Given the description of an element on the screen output the (x, y) to click on. 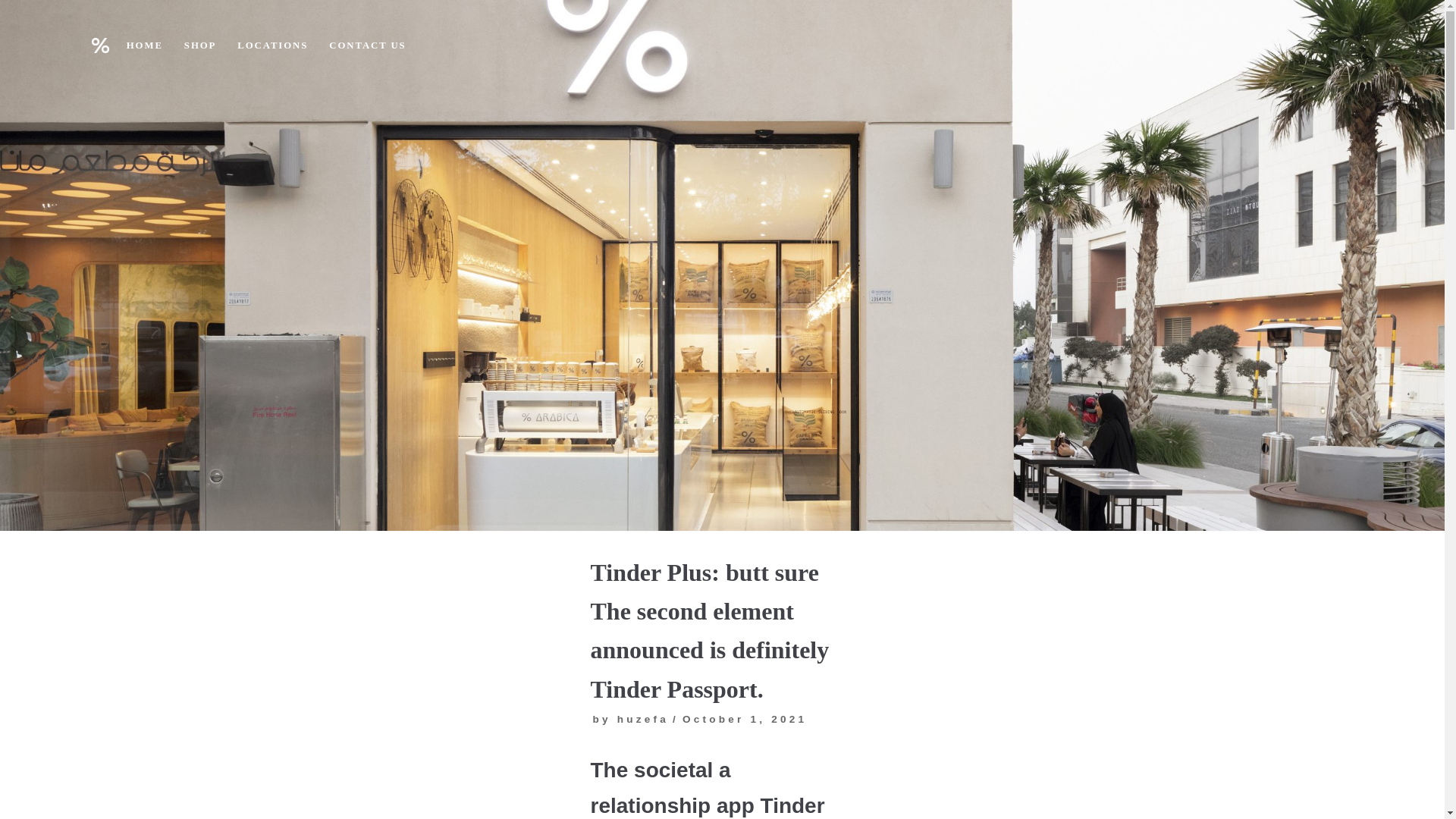
HOME (144, 44)
Posts by huzefa (642, 718)
huzefa (642, 718)
Skip to content (15, 31)
SHOP (199, 44)
CONTACT US (367, 44)
LOCATIONS (272, 44)
